Given the description of an element on the screen output the (x, y) to click on. 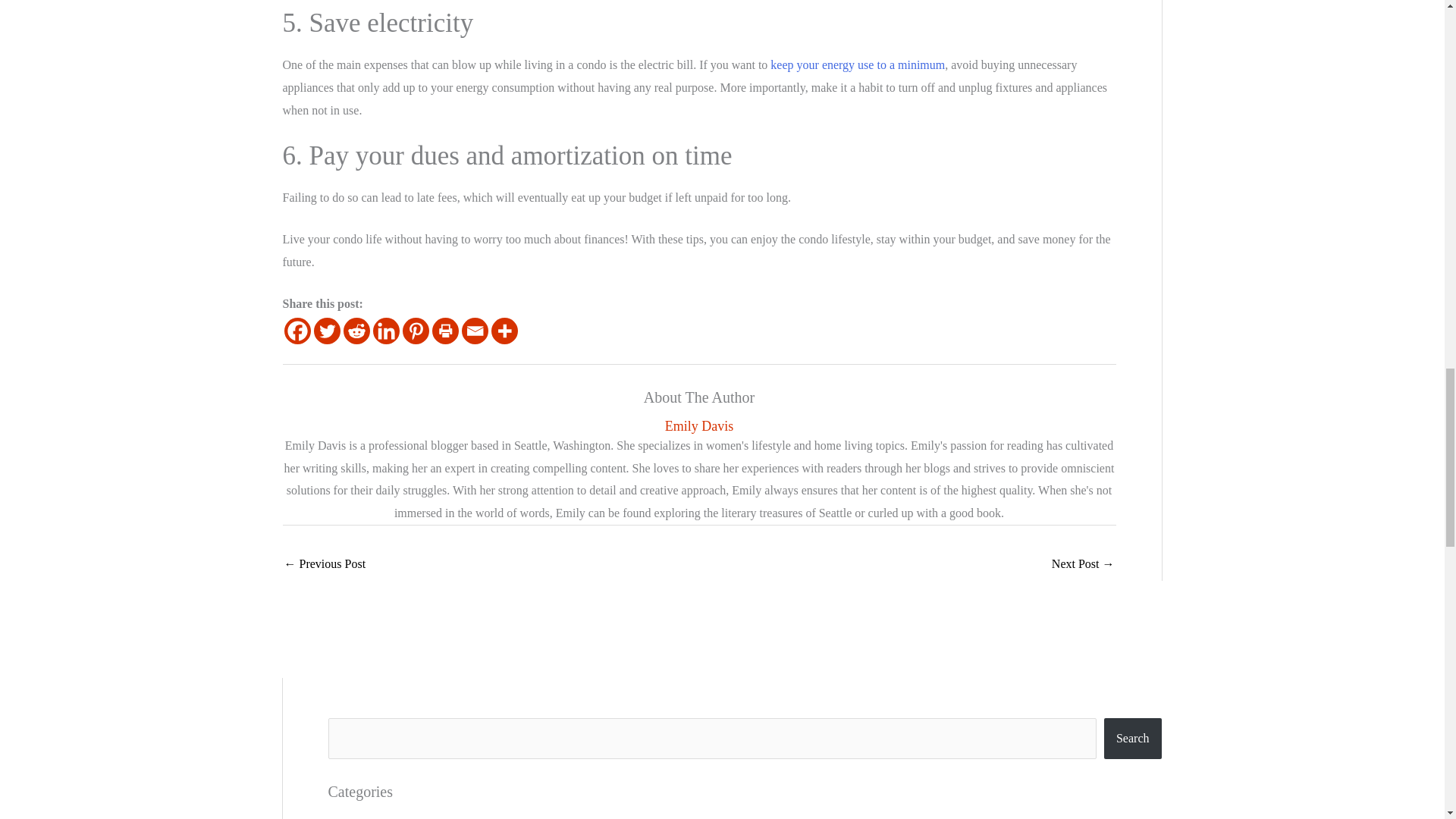
Facebook (296, 330)
The Best Materials for Different Types of Garage Doors (1083, 565)
Email (474, 330)
More (505, 330)
The Spruce (857, 64)
Linkedin (385, 330)
Reddit (355, 330)
Unconventional Investments that Pay Off During Retirement (324, 565)
Search (1132, 738)
Pinterest (414, 330)
Twitter (327, 330)
Emily Davis (698, 426)
Print (445, 330)
keep your energy use to a minimum (857, 64)
